Given the description of an element on the screen output the (x, y) to click on. 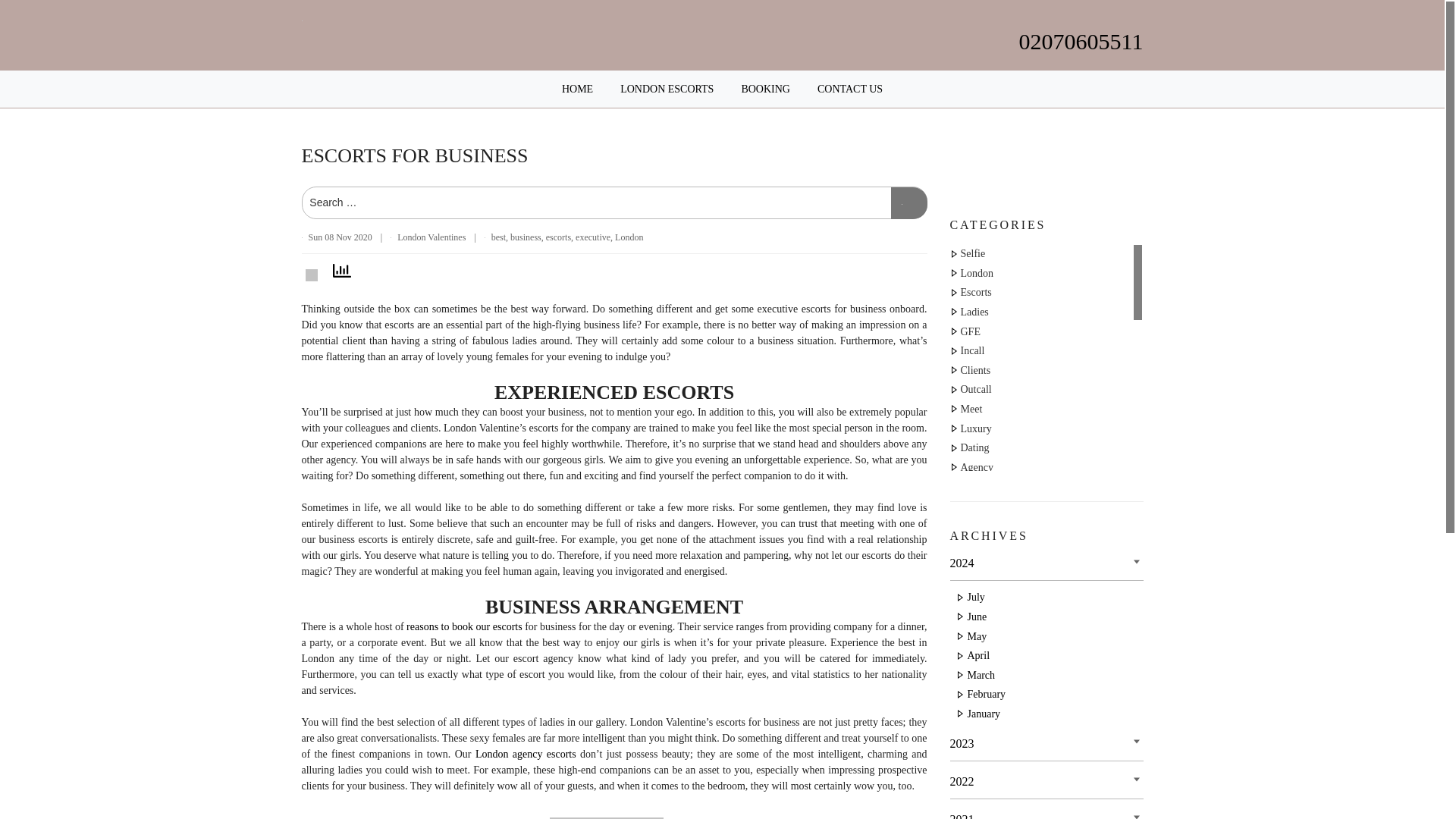
LONDON ESCORTS (666, 89)
business (526, 236)
executive (592, 236)
Sun 08 Nov 2020 (339, 236)
escorts (558, 236)
BOOKING (765, 89)
Search (907, 203)
HOME (577, 89)
reasons to book our escorts (464, 626)
London agency escorts (526, 754)
